Given the description of an element on the screen output the (x, y) to click on. 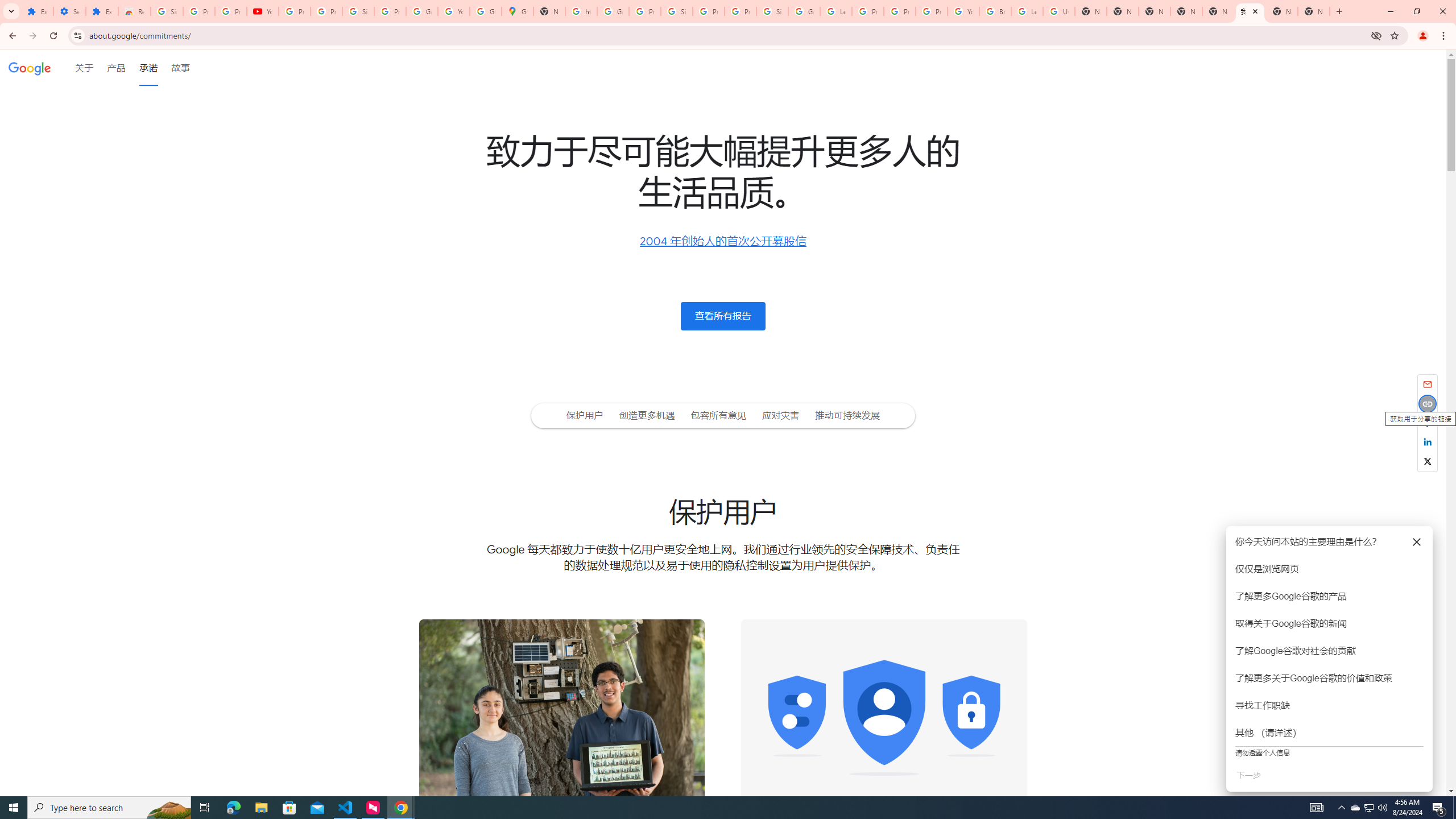
Browse Chrome as a guest - Computer - Google Chrome Help (995, 11)
YouTube (262, 11)
YouTube (963, 11)
